Given the description of an element on the screen output the (x, y) to click on. 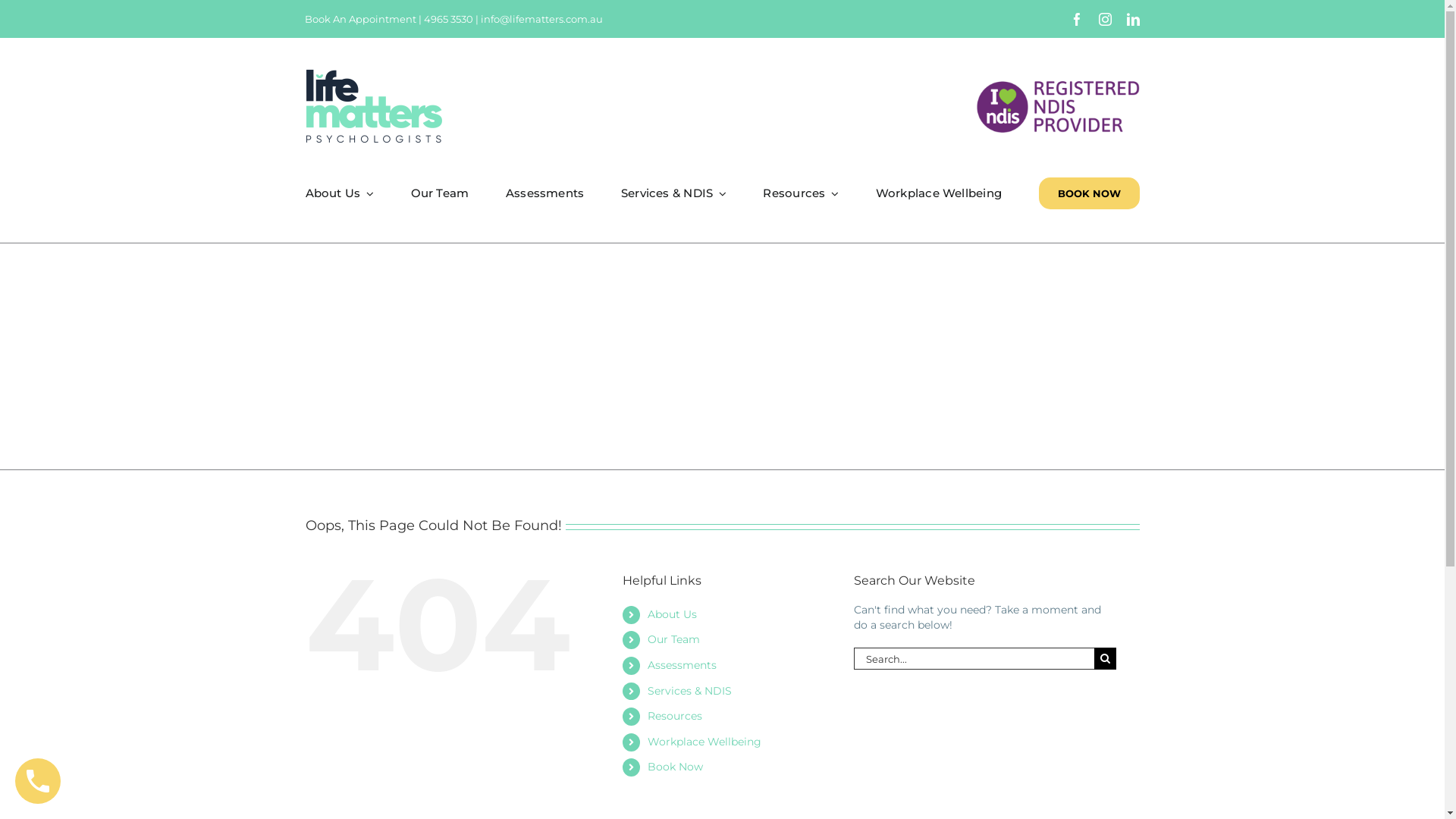
Resources Element type: text (674, 715)
Our Team Element type: text (440, 193)
Services & NDIS Element type: text (689, 690)
4965 3530 Element type: text (448, 18)
Services & NDIS Element type: text (673, 193)
About Us Element type: text (671, 614)
Workplace Wellbeing Element type: text (938, 193)
Book An Appointment Element type: text (360, 18)
Assessments Element type: text (544, 193)
Assessments Element type: text (681, 664)
info@lifematters.com.au Element type: text (541, 18)
About Us Element type: text (338, 193)
BOOK NOW Element type: text (1088, 193)
Book Now Element type: text (674, 766)
ndis Element type: hover (1057, 105)
Our Team Element type: text (673, 639)
Workplace Wellbeing Element type: text (704, 741)
Resources Element type: text (800, 193)
